Given the description of an element on the screen output the (x, y) to click on. 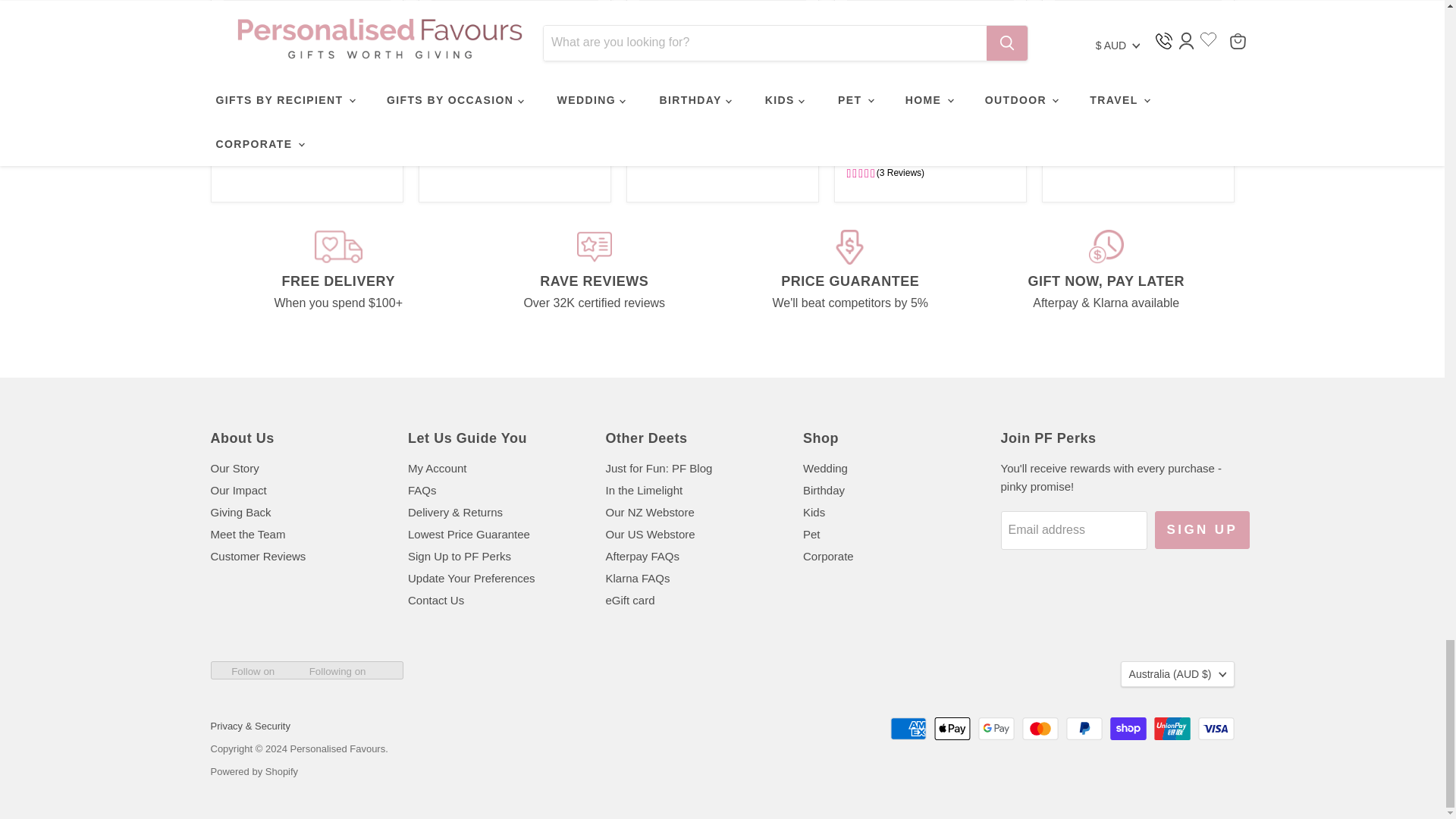
4.96 Stars - 174 Reviews (474, 158)
5 Stars - 3 Reviews (677, 158)
4.95 Stars - 58 Reviews (263, 158)
American Express (907, 728)
